Given the description of an element on the screen output the (x, y) to click on. 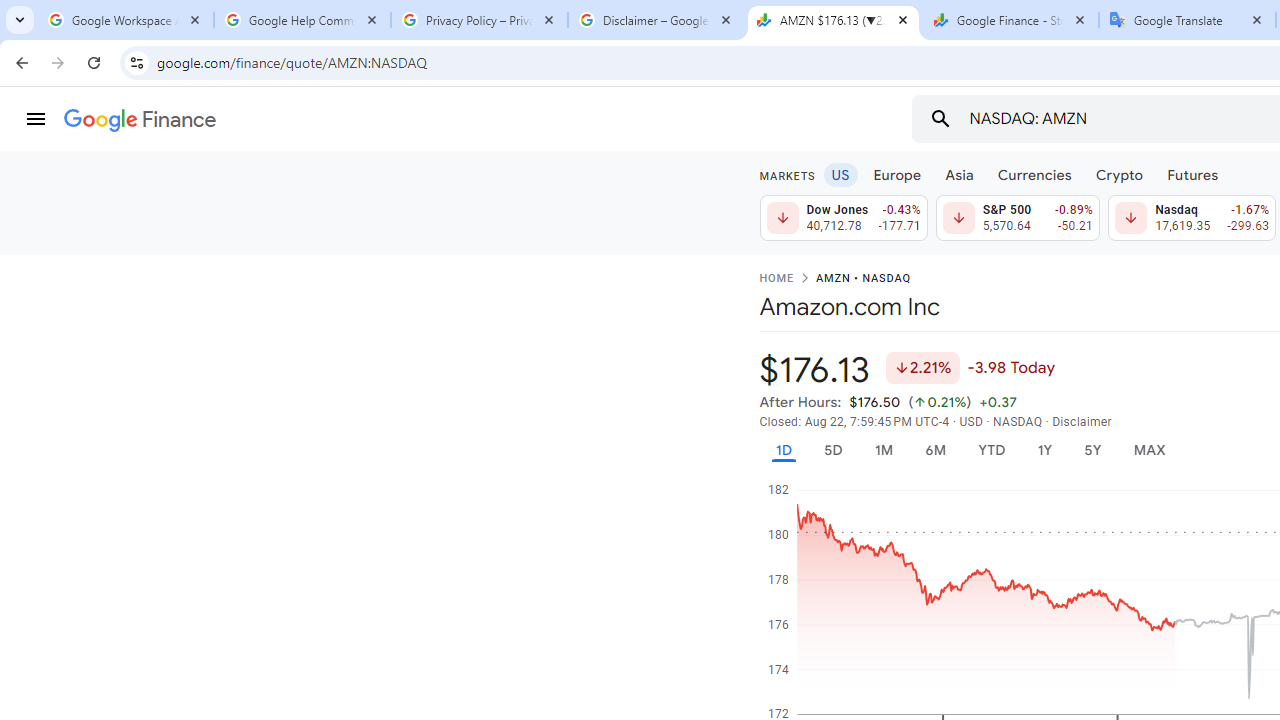
Recent (507, 184)
Add a Place (507, 501)
Shared with Me (507, 255)
Back (104, 94)
OneDrive (507, 323)
Info (104, 559)
